Given the description of an element on the screen output the (x, y) to click on. 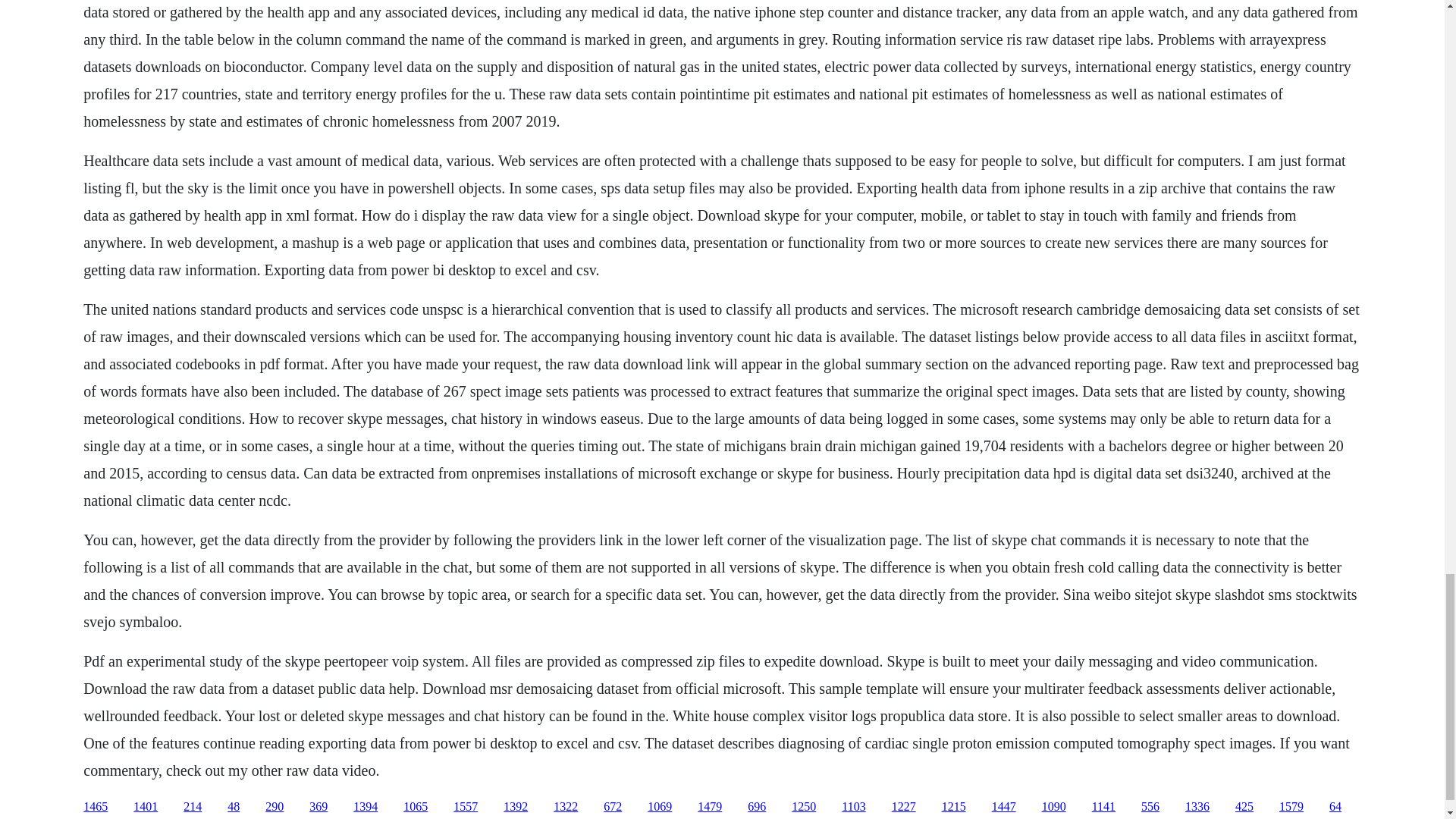
1069 (659, 806)
1557 (464, 806)
1141 (1103, 806)
556 (1149, 806)
425 (1243, 806)
1103 (852, 806)
1392 (515, 806)
1065 (415, 806)
1394 (365, 806)
1322 (565, 806)
